Given the description of an element on the screen output the (x, y) to click on. 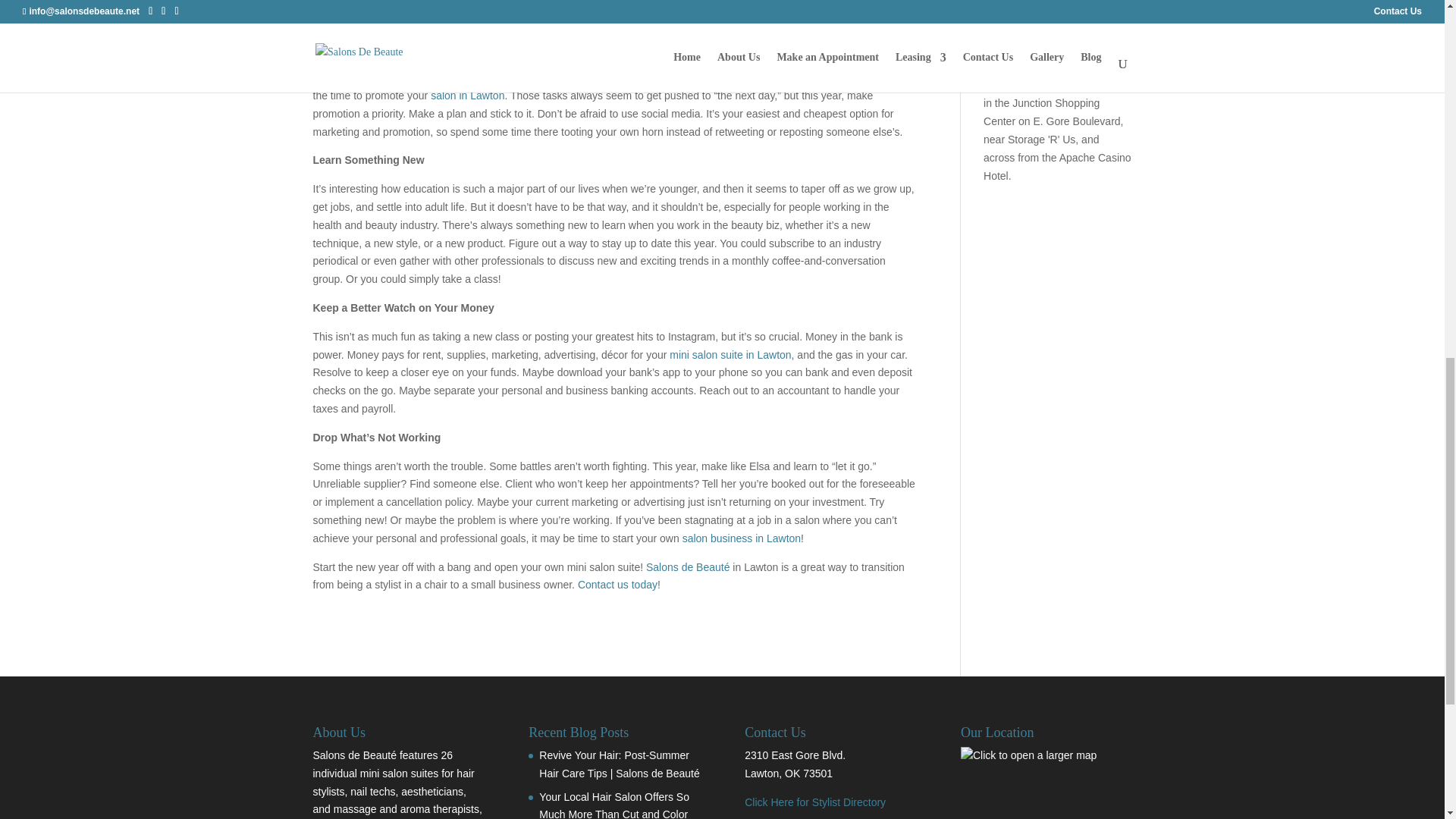
Click to open a larger map (1028, 755)
Contact us today (618, 584)
salon business in Lawton (741, 538)
mini salon suite in Lawton (729, 354)
salon in Lawton (466, 95)
